Given the description of an element on the screen output the (x, y) to click on. 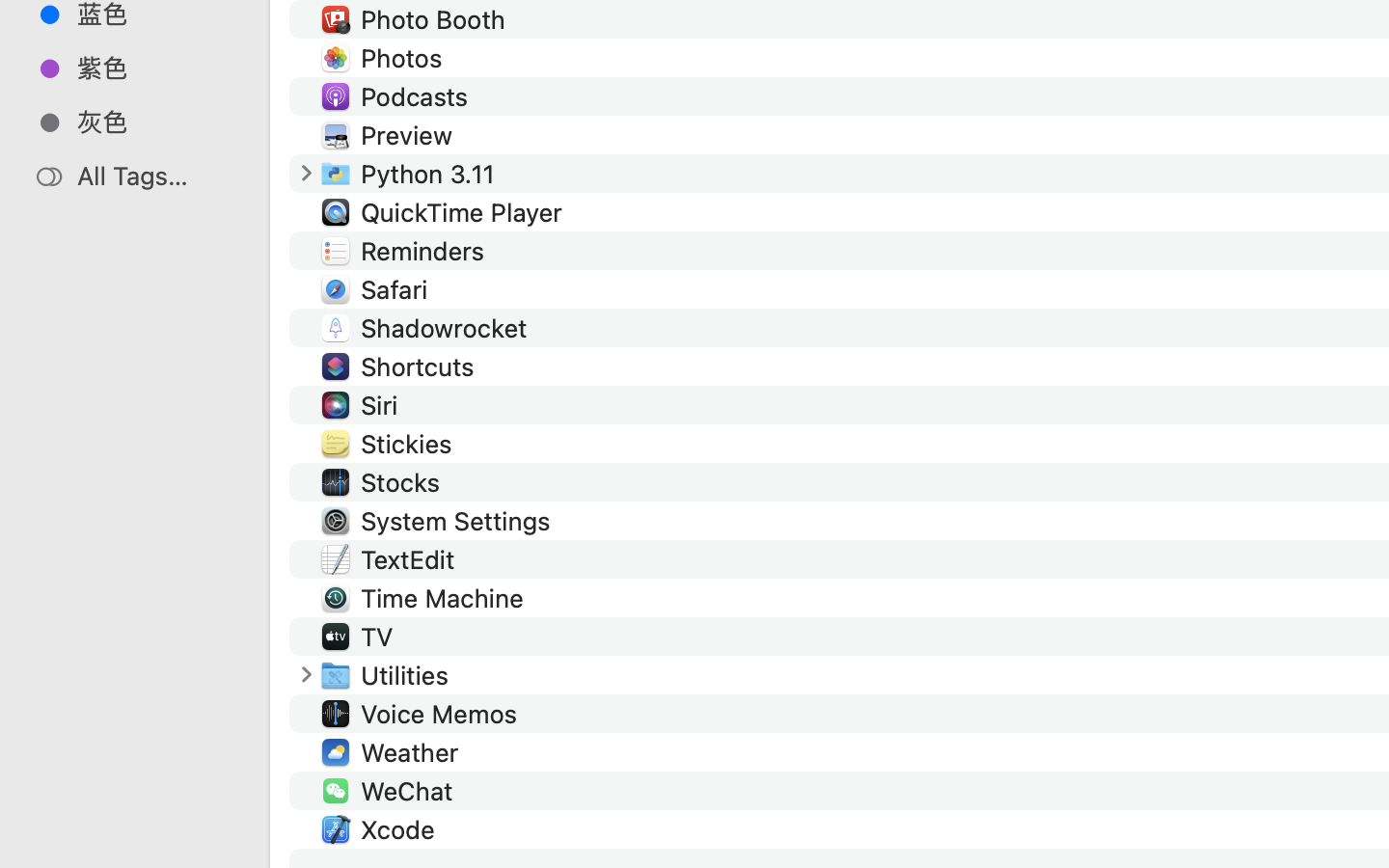
Stickies Element type: AXTextField (410, 443)
灰色 Element type: AXStaticText (155, 121)
Voice Memos Element type: AXTextField (443, 713)
Reminders Element type: AXTextField (426, 250)
Weather Element type: AXTextField (413, 751)
